Given the description of an element on the screen output the (x, y) to click on. 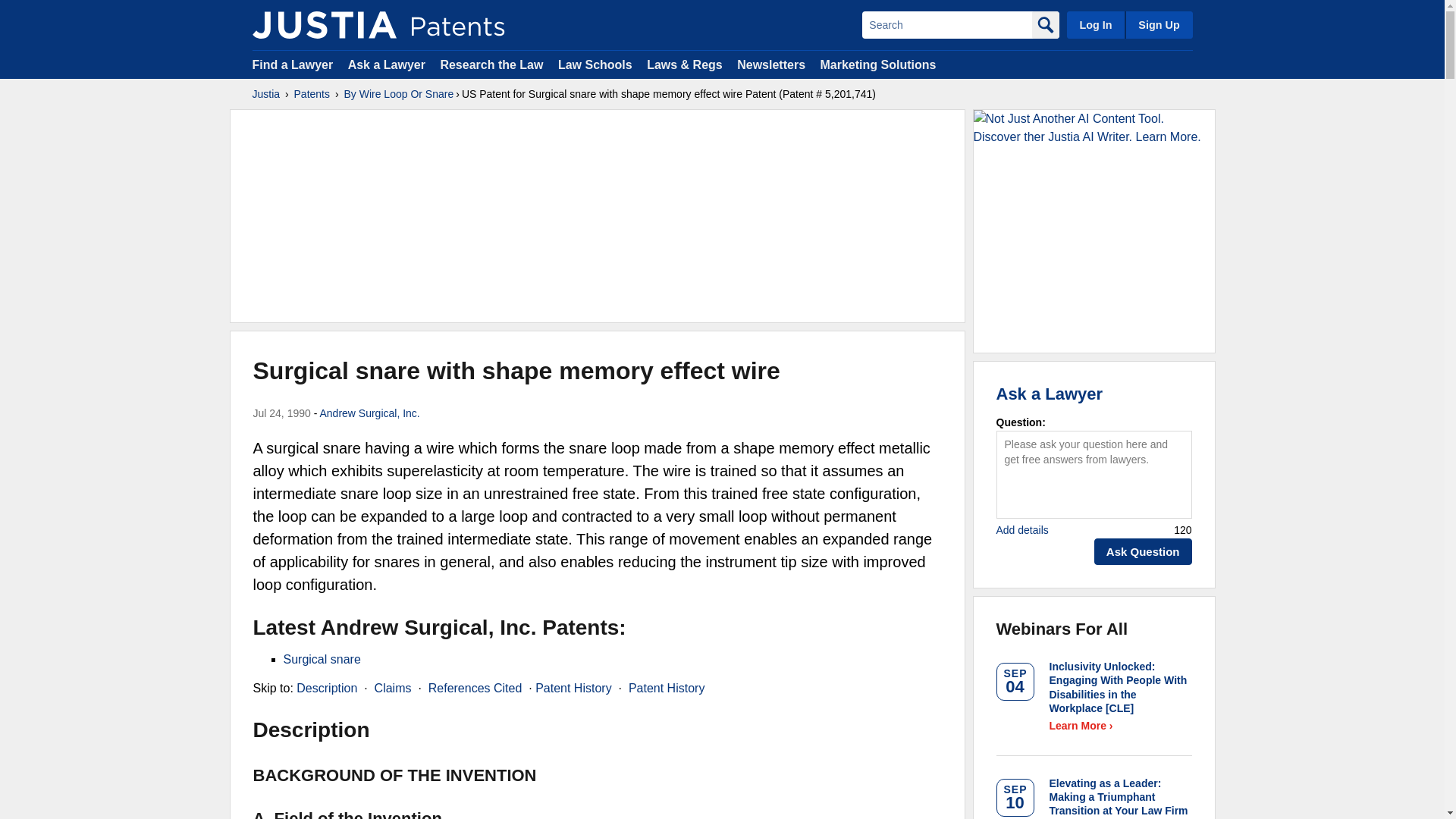
Patents (312, 93)
Newsletters (770, 64)
Research the Law (491, 64)
Claims (393, 687)
Find a Lawyer (292, 64)
Ask a Lawyer (386, 64)
Law Schools (594, 64)
Description (326, 687)
Patent History (573, 687)
